Given the description of an element on the screen output the (x, y) to click on. 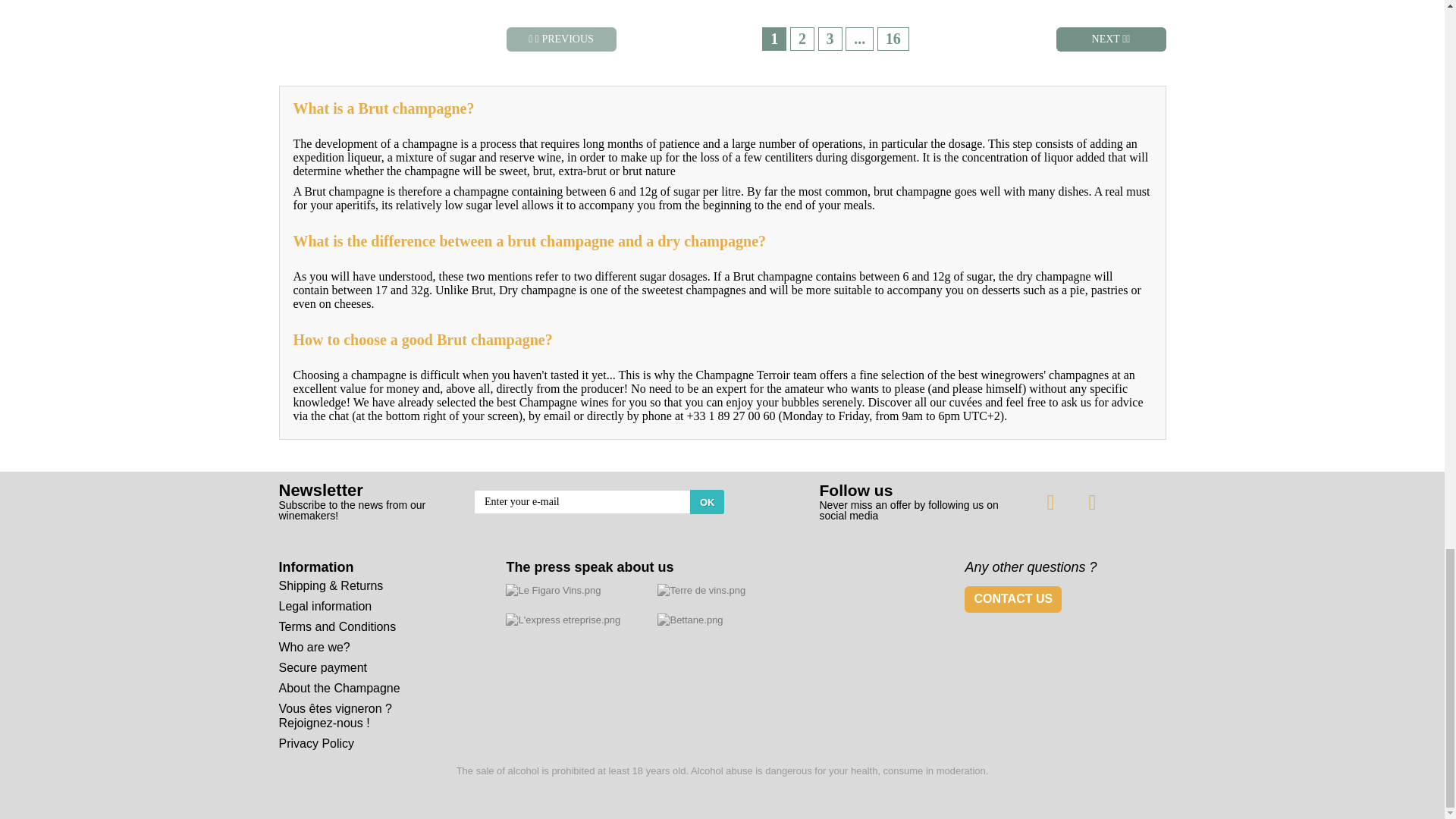
Enter your e-mail (598, 501)
